Given the description of an element on the screen output the (x, y) to click on. 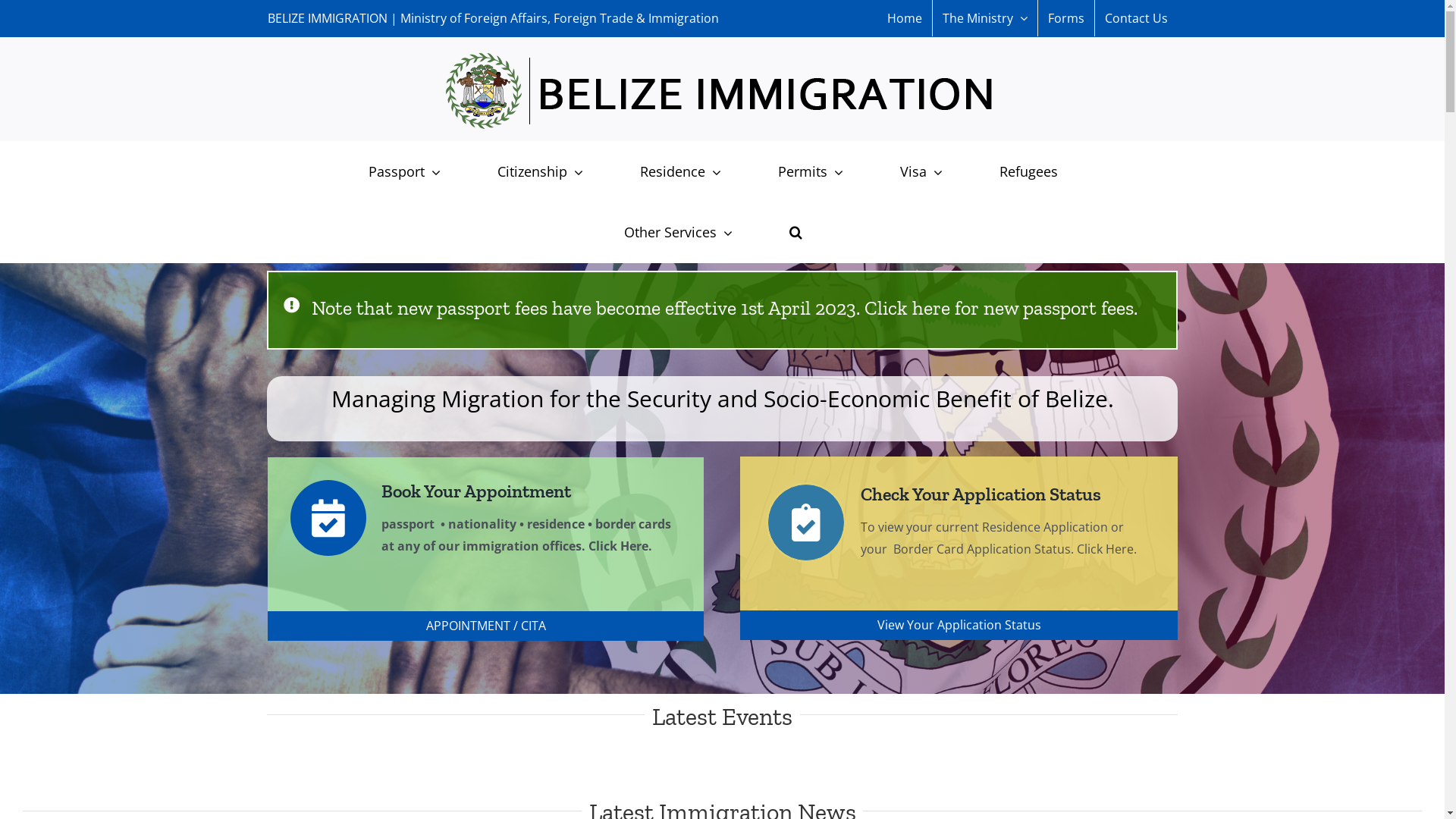
Home Element type: text (903, 18)
Book Your Appointment Element type: text (430, 491)
The Ministry Element type: text (984, 18)
Permits Element type: text (809, 171)
Citizenship Element type: text (539, 171)
Refugees Element type: text (1027, 171)
Other Services Element type: text (678, 231)
APPOINTMENT / CITA Element type: text (484, 625)
Forms Element type: text (1065, 18)
Check Your Application Status Element type: text (933, 494)
Residence Element type: text (679, 171)
Visa Element type: text (921, 171)
Search Element type: hover (795, 231)
Passport Element type: text (403, 171)
Contact Us Element type: text (1136, 18)
View Your Application Status Element type: text (958, 625)
